Given the description of an element on the screen output the (x, y) to click on. 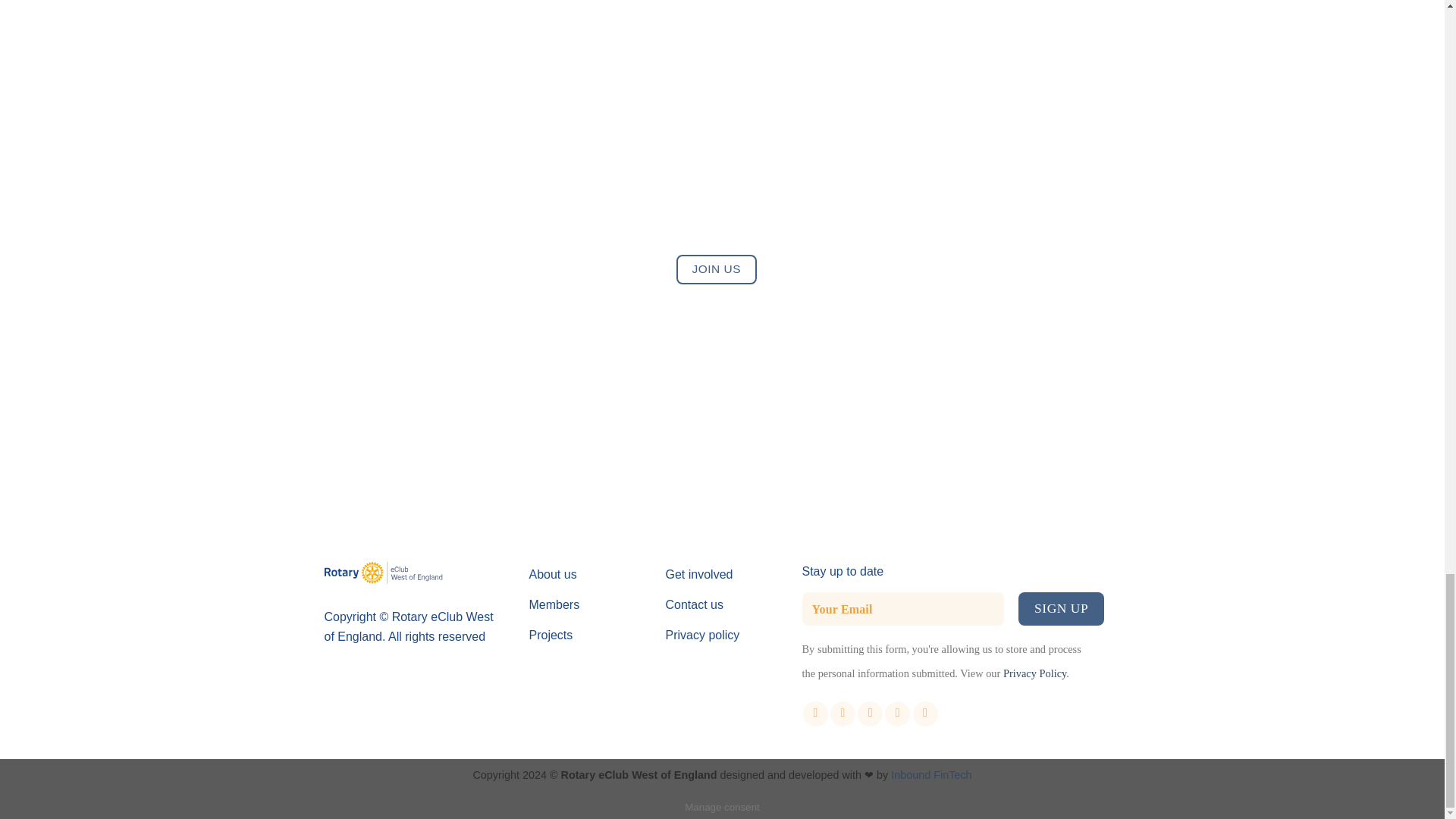
Sign Up (1060, 608)
Contact us (721, 607)
Follow on YouTube (924, 713)
Follow on Twitter (869, 713)
Follow on LinkedIn (897, 713)
JOIN US (717, 269)
Get involved (721, 576)
Members (586, 607)
About us (586, 576)
Projects (586, 637)
